Given the description of an element on the screen output the (x, y) to click on. 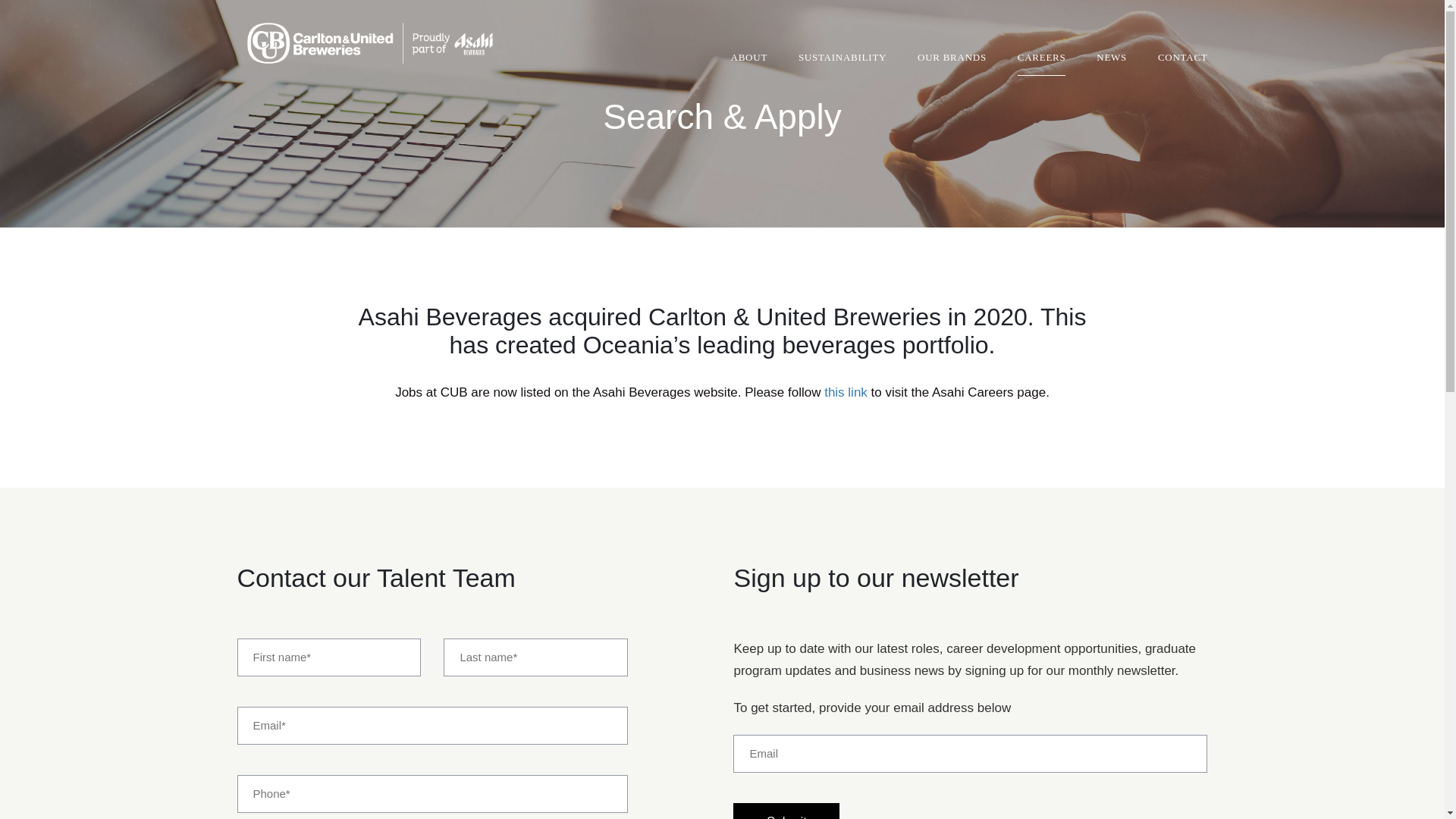
SUSTAINABILITY Element type: text (842, 63)
CONTACT Element type: text (1182, 63)
CAREERS Element type: text (1041, 63)
NEWS Element type: text (1111, 63)
OUR BRANDS Element type: text (951, 63)
ABOUT Element type: text (749, 63)
this link Element type: text (845, 392)
